Given the description of an element on the screen output the (x, y) to click on. 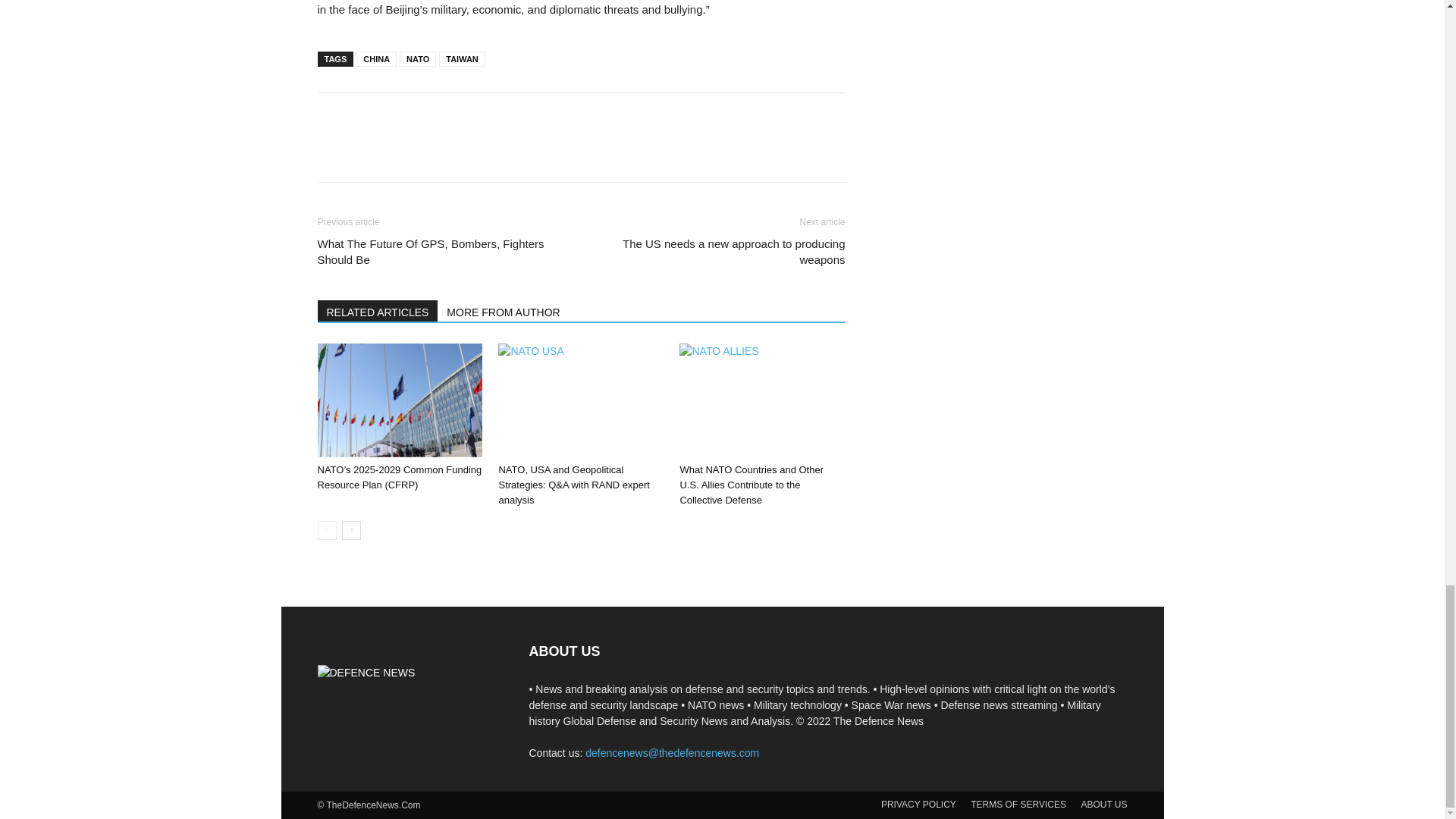
bottomFacebookLike (430, 116)
